Given the description of an element on the screen output the (x, y) to click on. 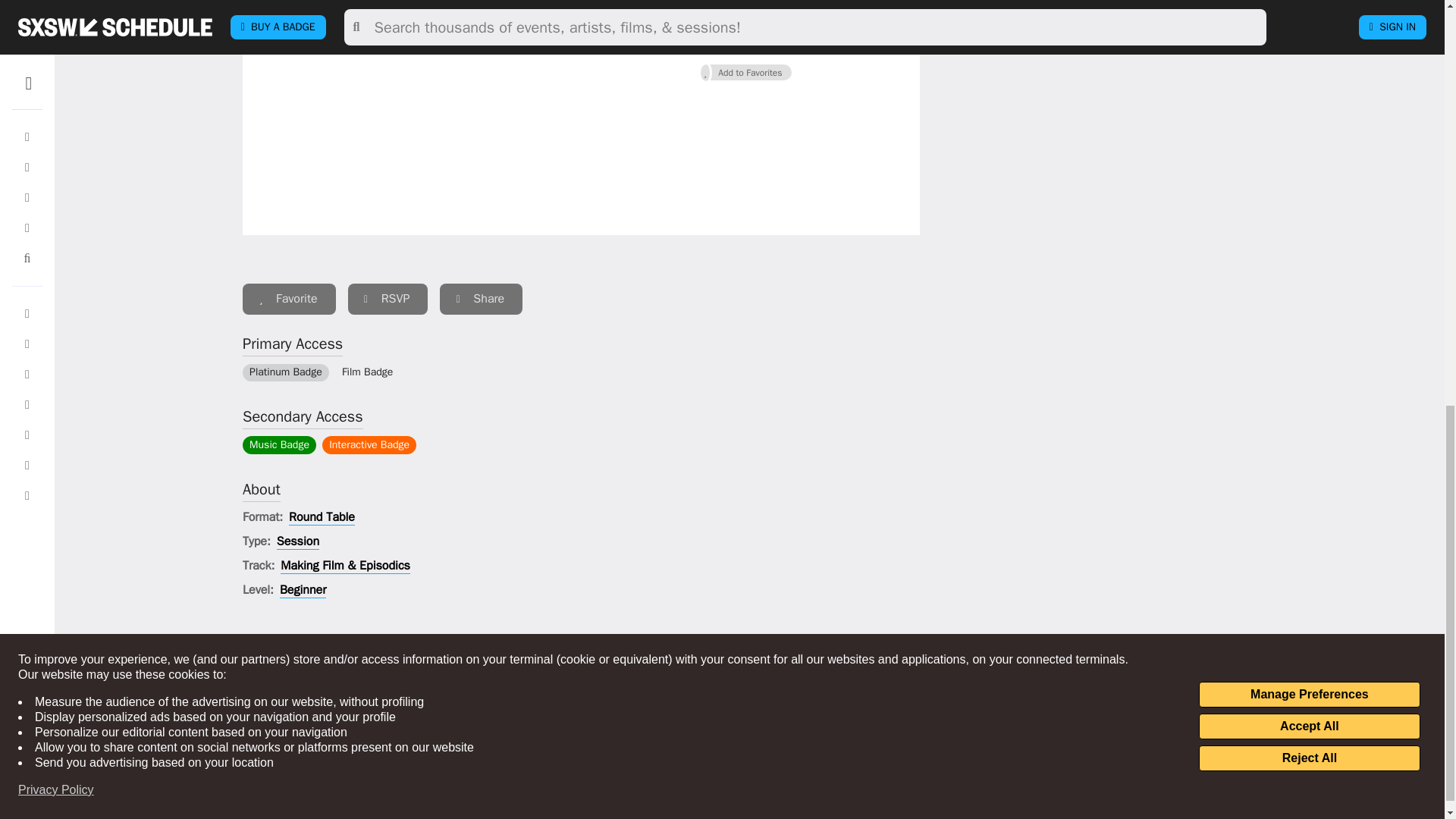
Sign In to add to your favorites. (746, 72)
Sign In to add to your favorites. (289, 298)
